Given the description of an element on the screen output the (x, y) to click on. 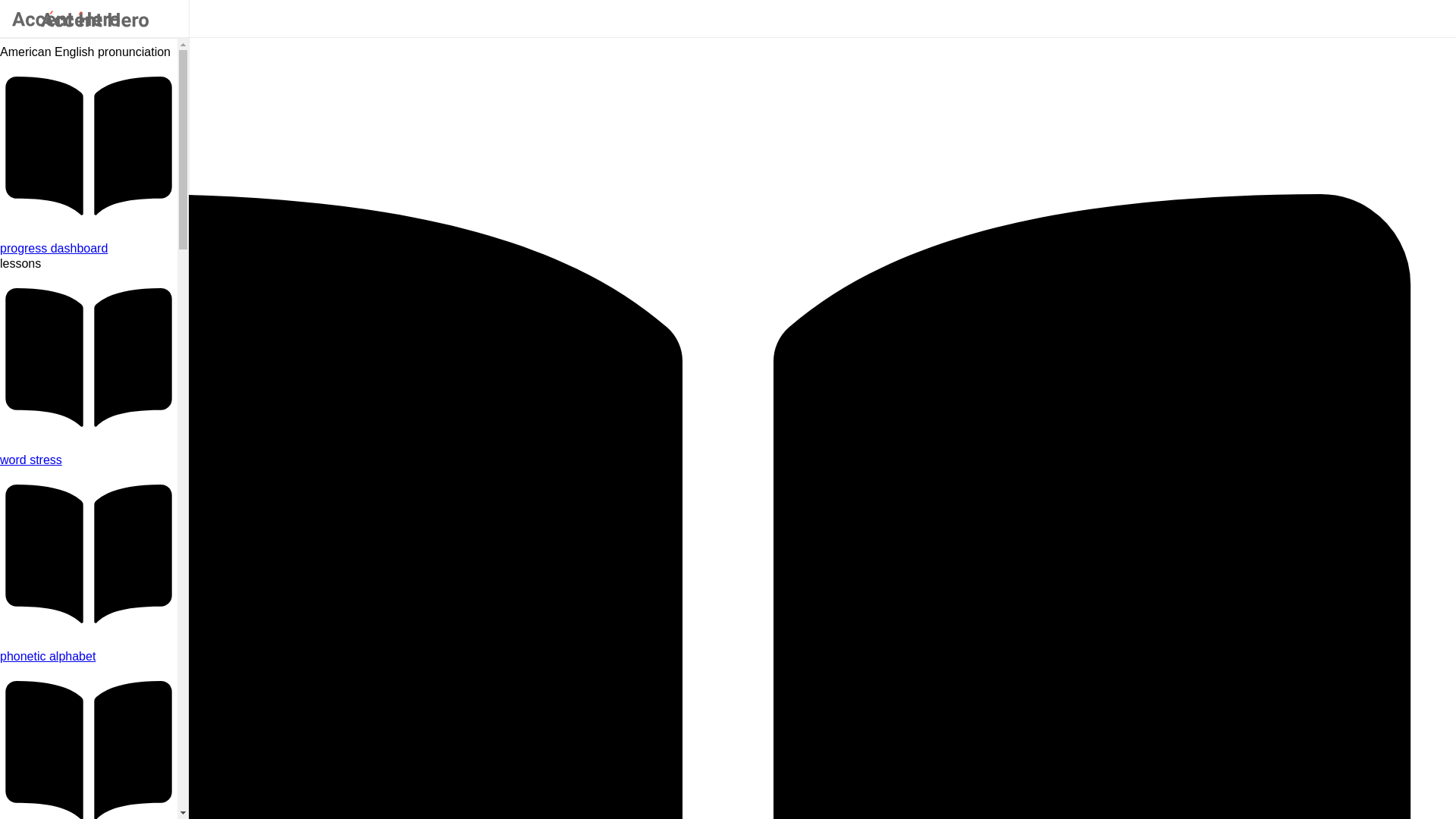
Learn how word stress influences your accent (88, 459)
Learn to precisely articulate each sound (88, 656)
